Given the description of an element on the screen output the (x, y) to click on. 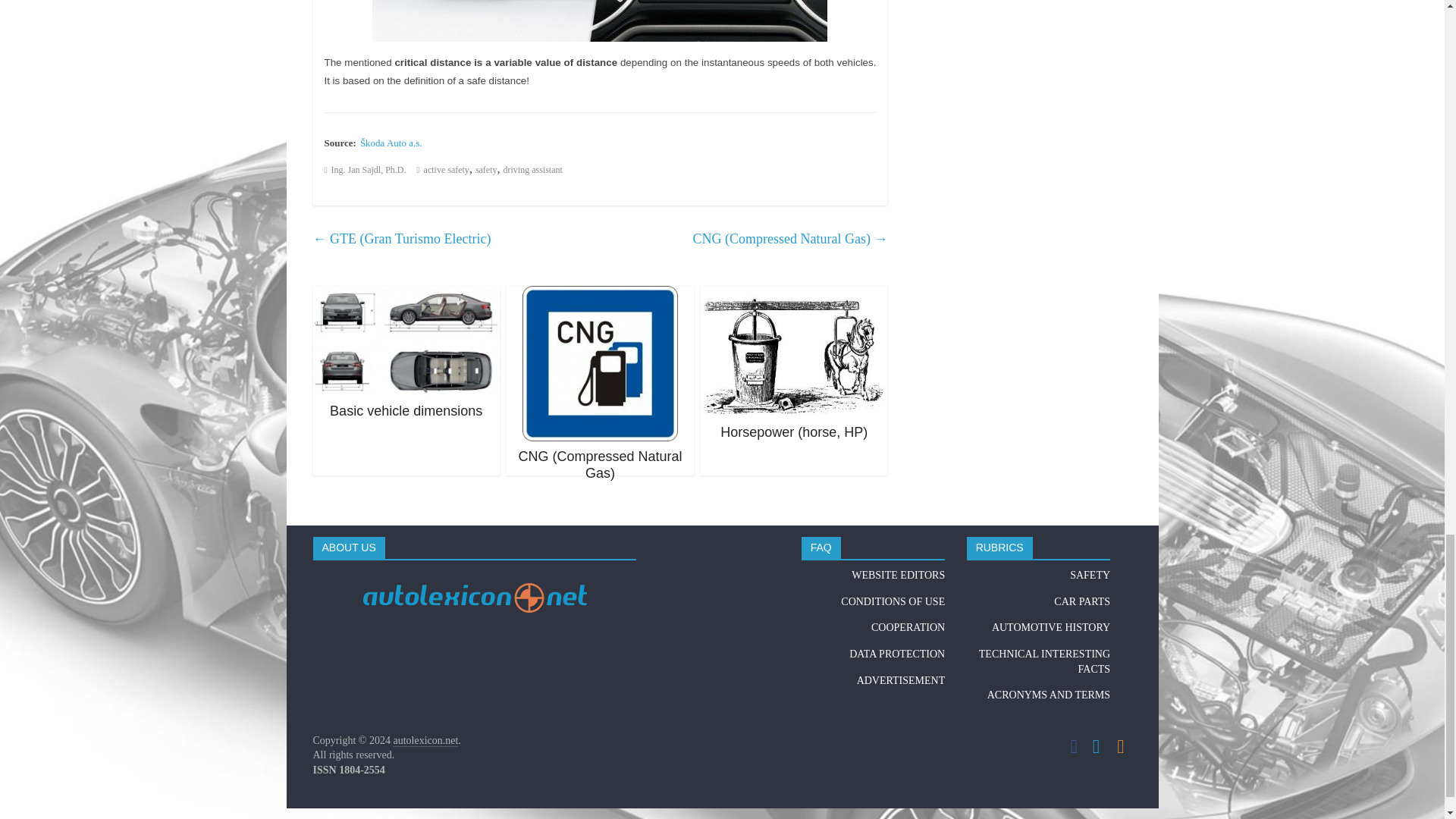
Ing. Jan Sajdl, Ph.D. (368, 169)
Basic vehicle dimensions (406, 295)
Basic vehicle dimensions (405, 410)
